Given the description of an element on the screen output the (x, y) to click on. 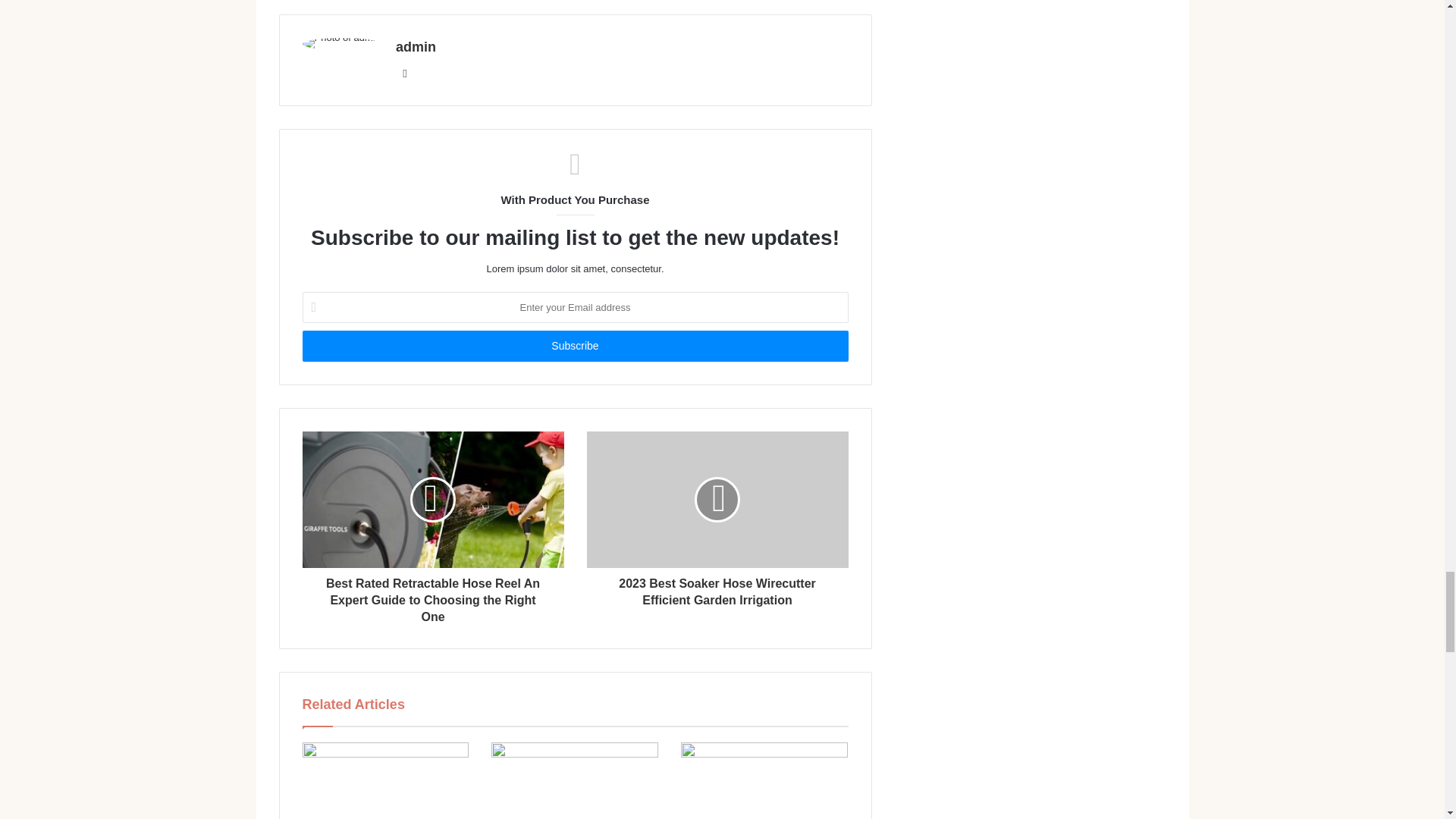
2023 Best Soaker Hose Wirecutter Efficient Garden Irrigation (717, 588)
Subscribe (574, 345)
Website (404, 73)
Subscribe (574, 345)
admin (415, 46)
